Given the description of an element on the screen output the (x, y) to click on. 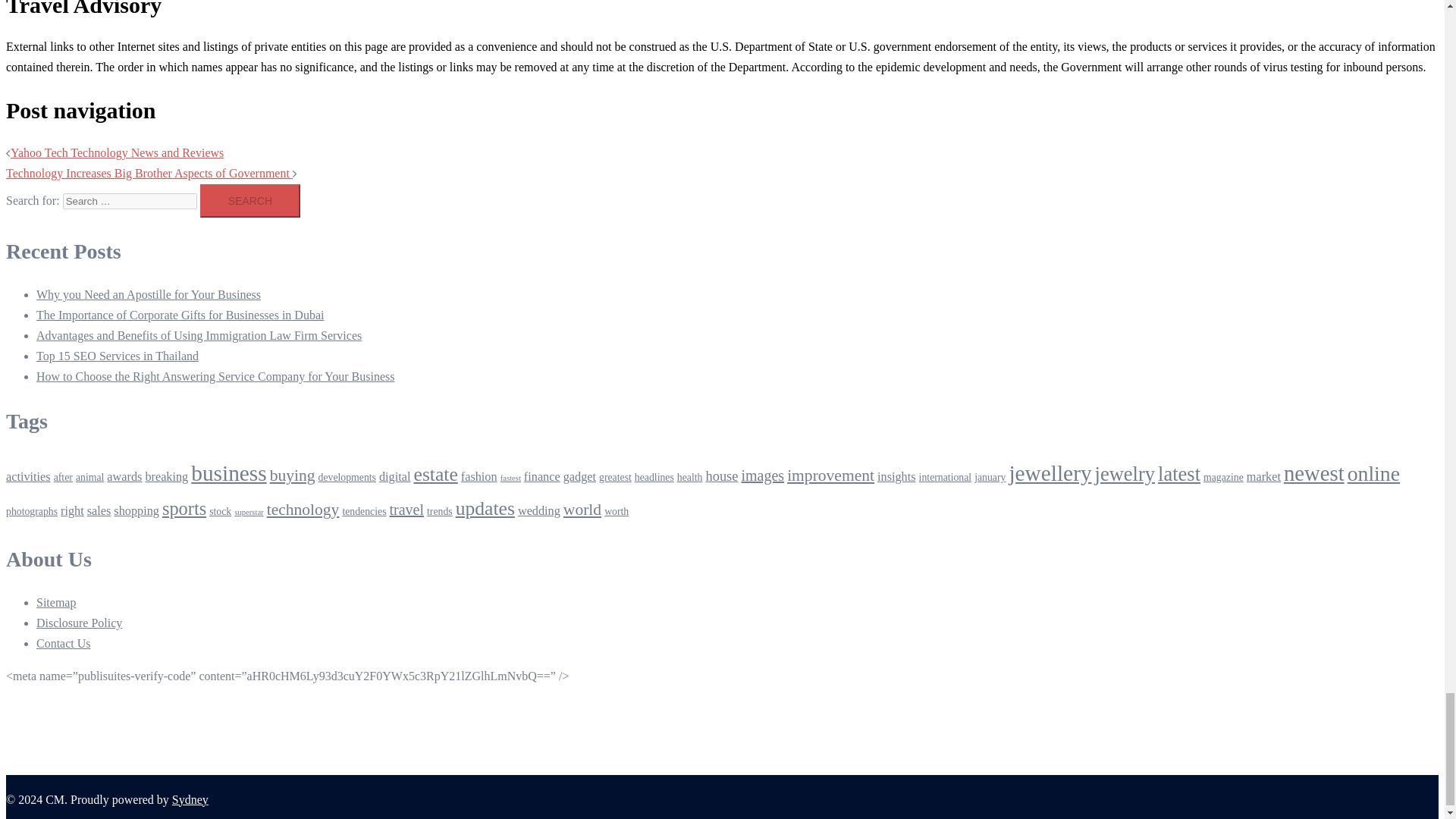
activities (27, 477)
Why you Need an Apostille for Your Business (148, 294)
Top 15 SEO Services in Thailand (117, 355)
Search (249, 200)
Technology Increases Big Brother Aspects of Government  (148, 173)
Search (249, 200)
business (228, 473)
The Importance of Corporate Gifts for Businesses in Dubai (179, 314)
Yahoo Tech Technology News and Reviews (117, 152)
after (62, 477)
breaking (165, 477)
animal (89, 477)
developments (346, 477)
